Given the description of an element on the screen output the (x, y) to click on. 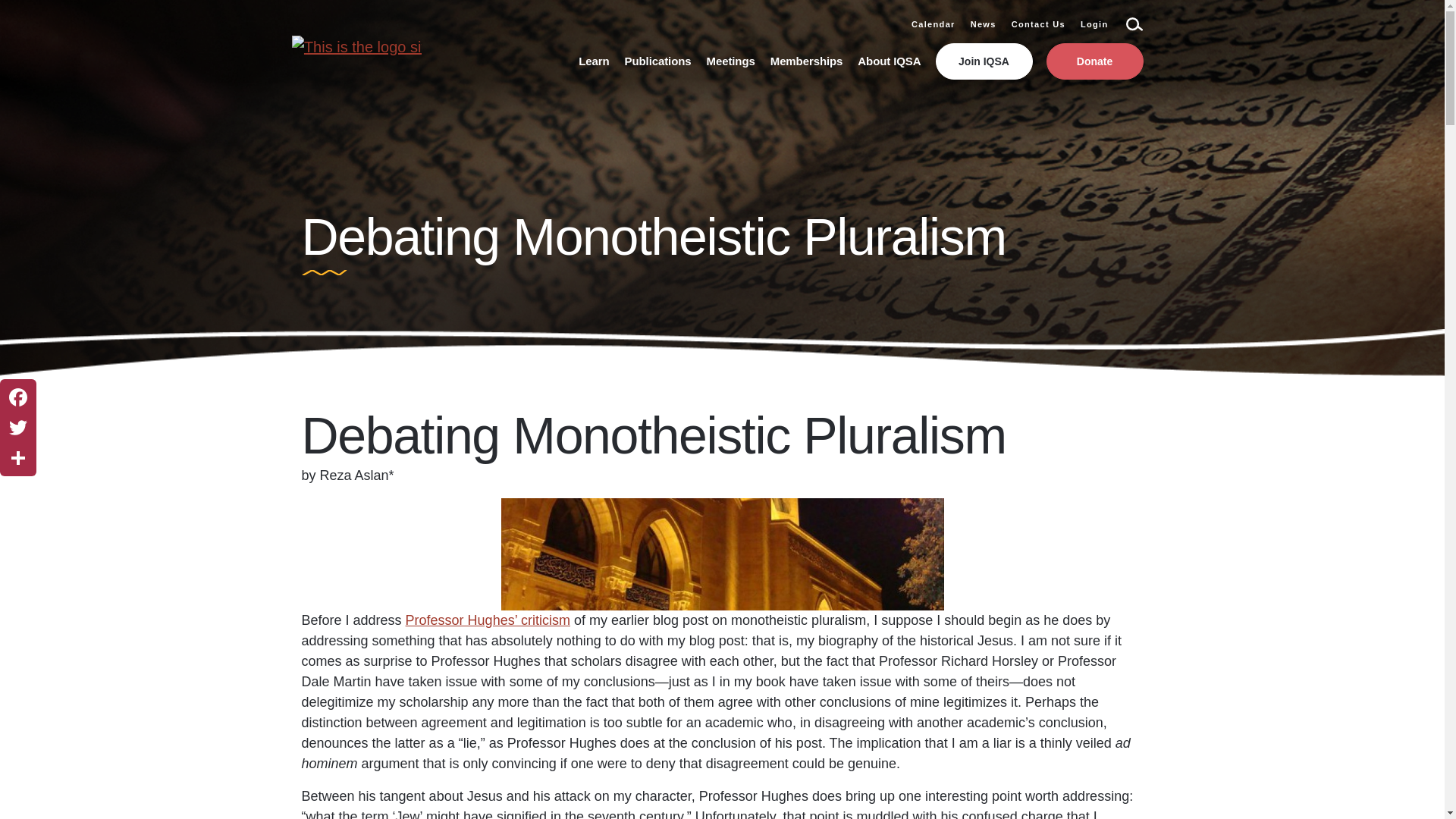
Memberships (806, 61)
Publications (657, 61)
Donate (1094, 61)
About IQSA (888, 61)
Memberships (806, 61)
Login (1094, 23)
Publications (657, 61)
Join IQSA (984, 61)
Calendar (933, 23)
News (983, 23)
Contact Us (1038, 23)
